Given the description of an element on the screen output the (x, y) to click on. 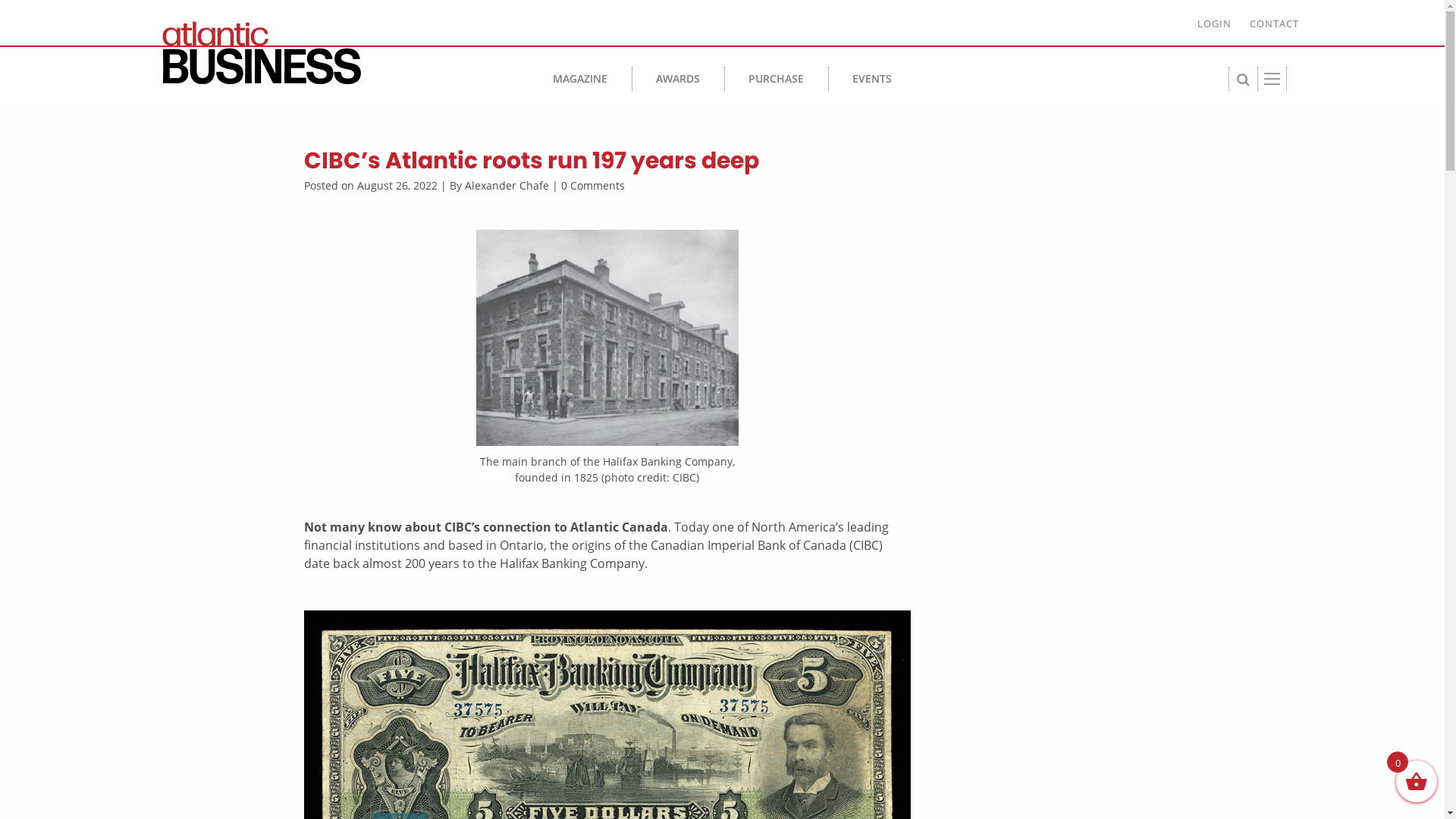
MAGAZINE Element type: text (579, 78)
LOGIN Element type: text (1213, 23)
EVENTS Element type: text (871, 78)
AWARDS Element type: text (677, 78)
CONTACT Element type: text (1274, 23)
Search Element type: text (822, 367)
PURCHASE Element type: text (775, 78)
Atlantic Business Magazine Element type: hover (289, 52)
